Given the description of an element on the screen output the (x, y) to click on. 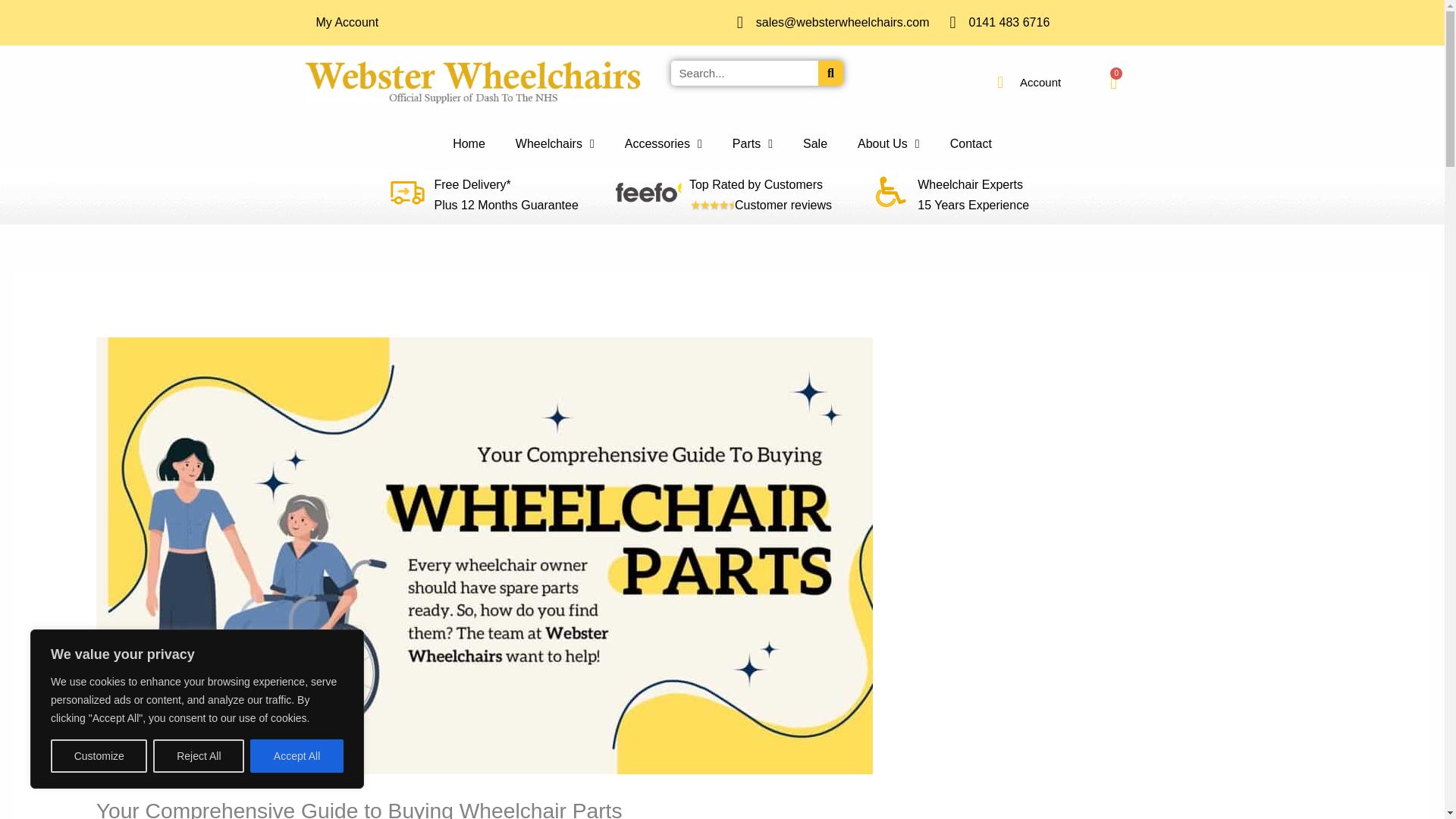
Parts (752, 143)
Customize (98, 756)
Search (830, 72)
Account (1112, 82)
Wheelchairs (1040, 82)
Contact (555, 143)
Accessories (970, 143)
Sale (663, 143)
Home (815, 143)
